Given the description of an element on the screen output the (x, y) to click on. 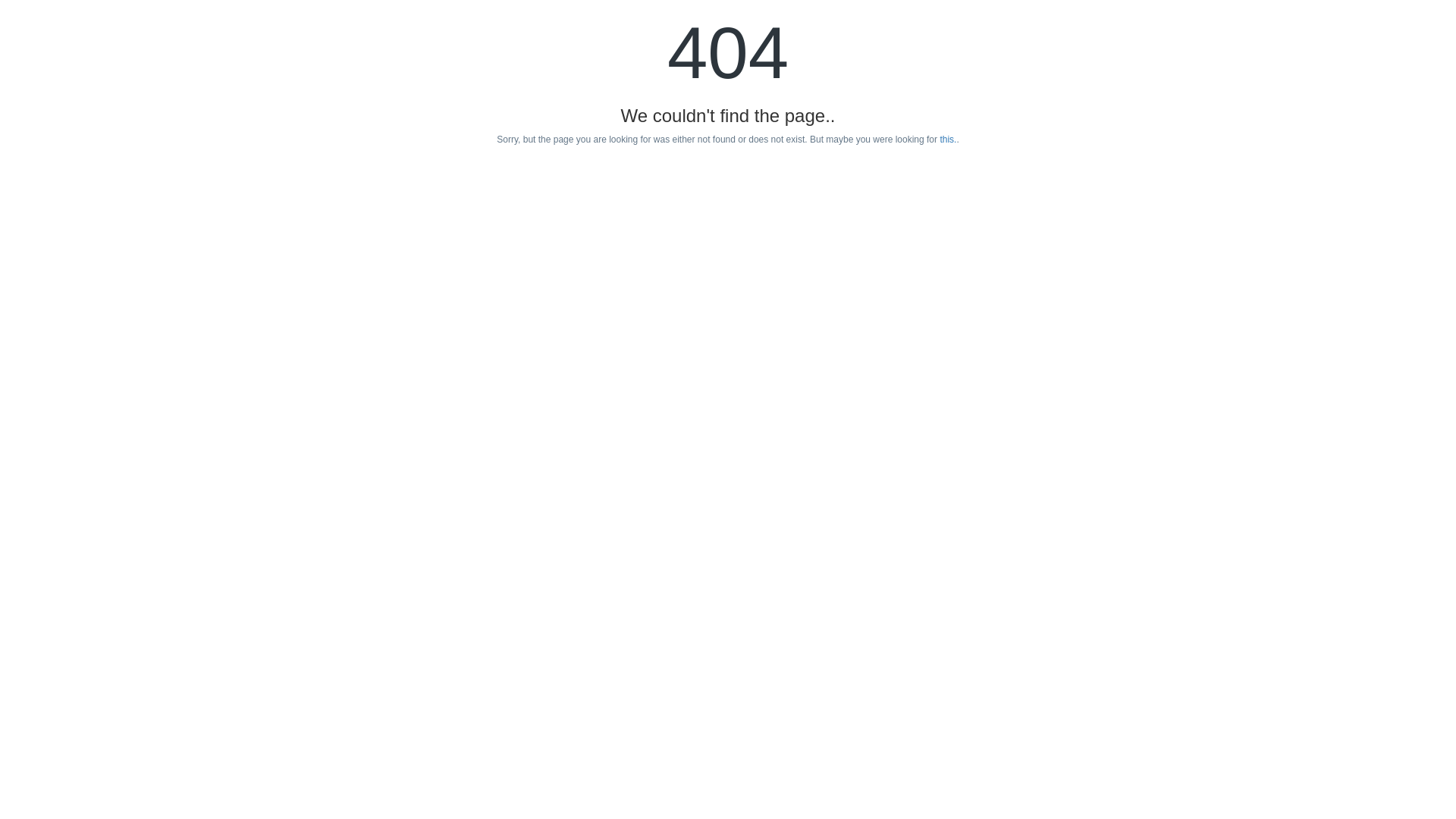
this. Element type: text (947, 139)
